Given the description of an element on the screen output the (x, y) to click on. 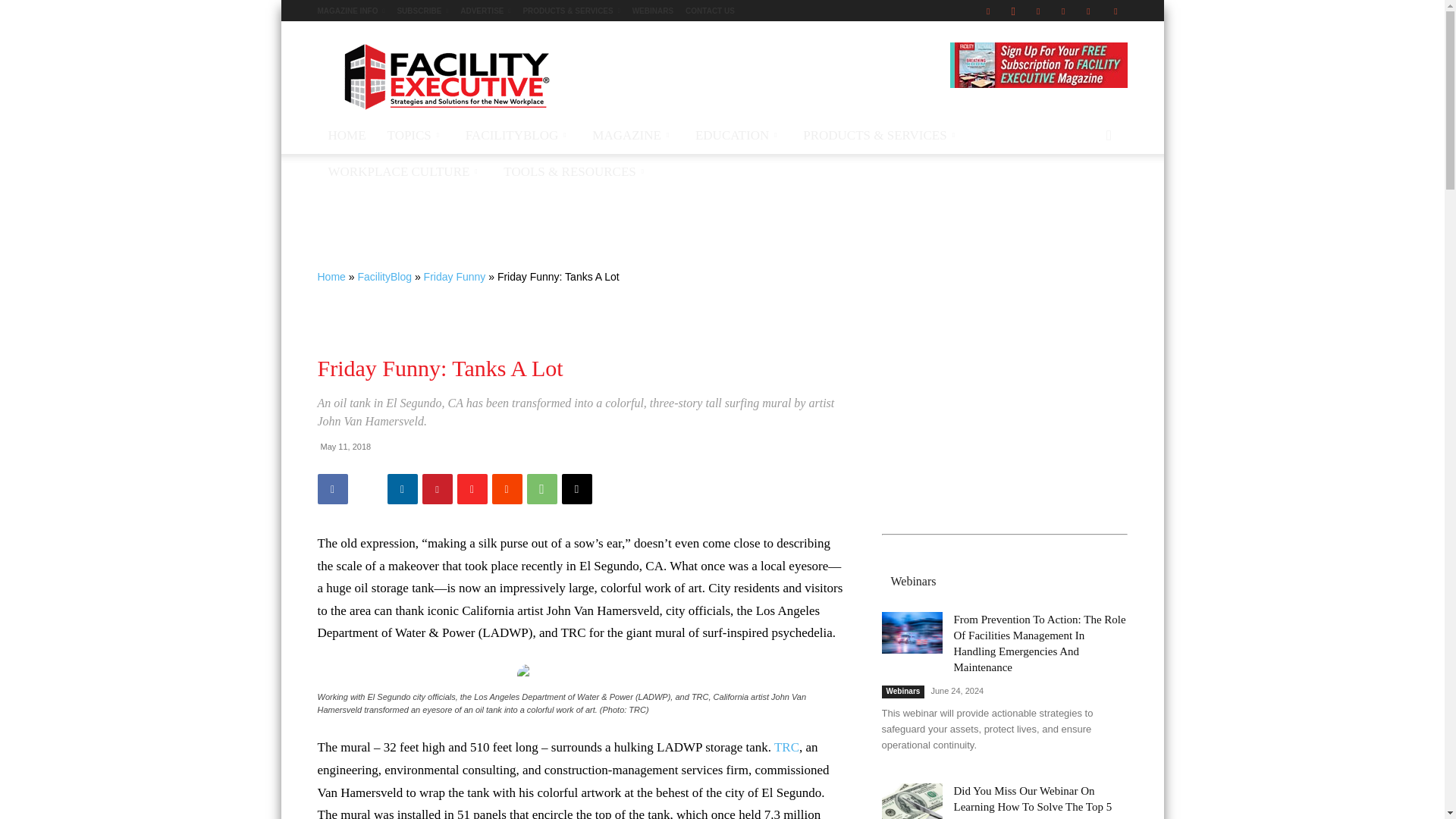
RSS (1088, 10)
Strategies and Solutions for the New Workplace (445, 76)
Instagram (1013, 10)
Linkedin (1037, 10)
Facebook (987, 10)
Pinterest (1062, 10)
Youtube (1114, 10)
